Given the description of an element on the screen output the (x, y) to click on. 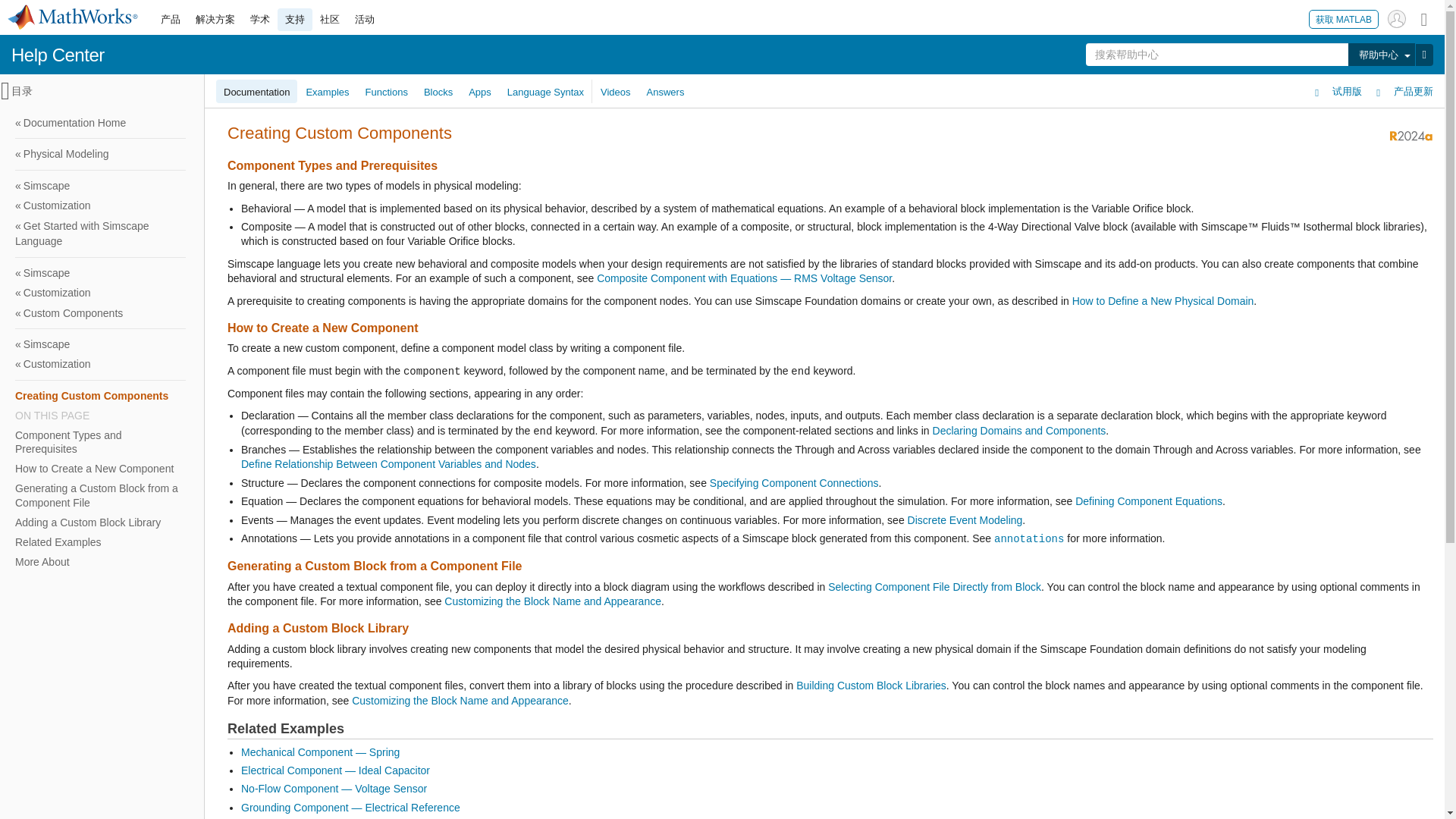
Matrix Menu (1423, 18)
Creating Custom Components (100, 395)
ON THIS PAGE (100, 415)
